Given the description of an element on the screen output the (x, y) to click on. 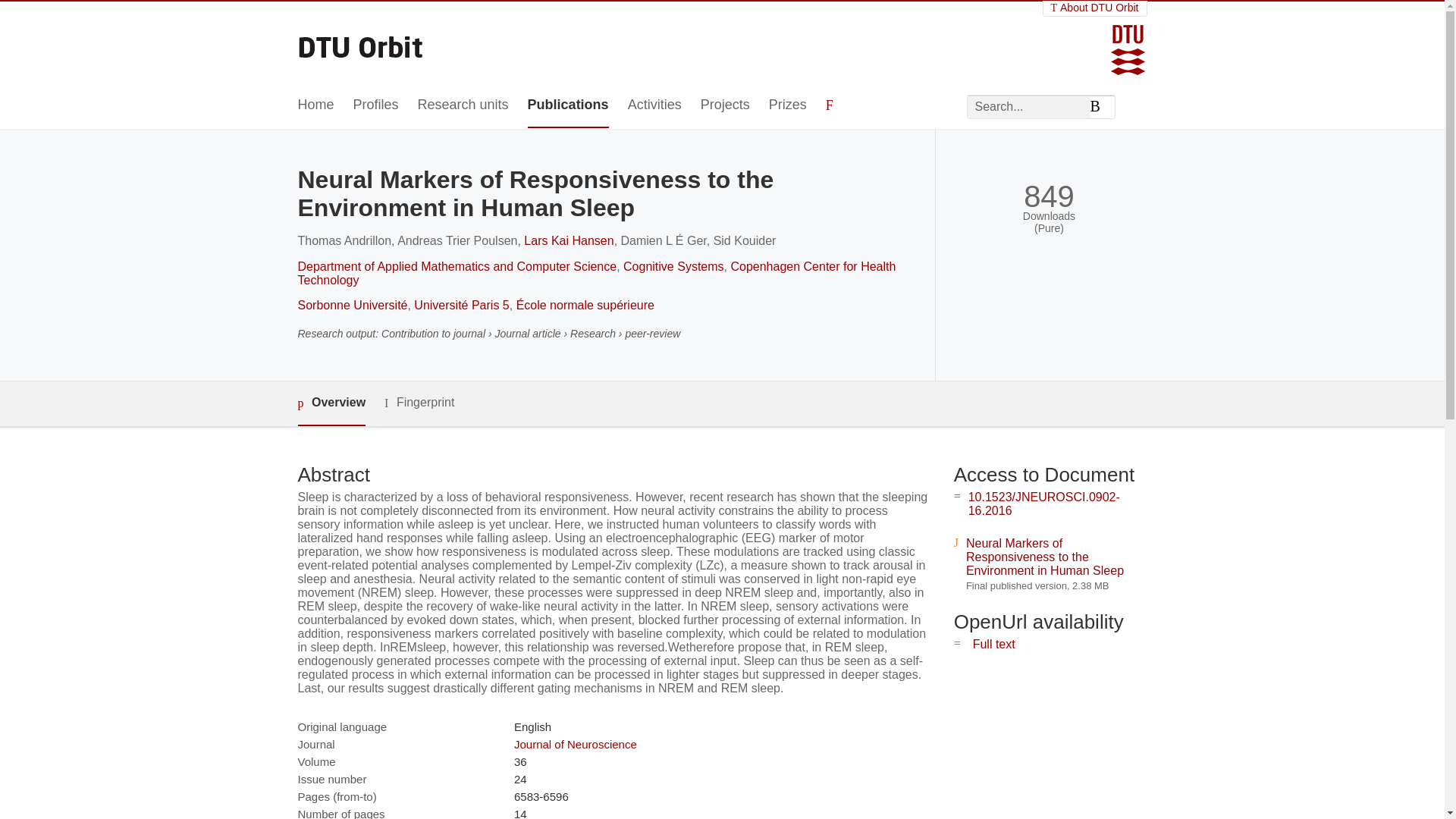
Projects (724, 105)
Lars Kai Hansen (568, 240)
Copenhagen Center for Health Technology (596, 273)
Department of Applied Mathematics and Computer Science (456, 266)
Full text (993, 644)
Activities (654, 105)
Publications (567, 105)
Profiles (375, 105)
Journal of Neuroscience (575, 744)
Overview (331, 403)
